Given the description of an element on the screen output the (x, y) to click on. 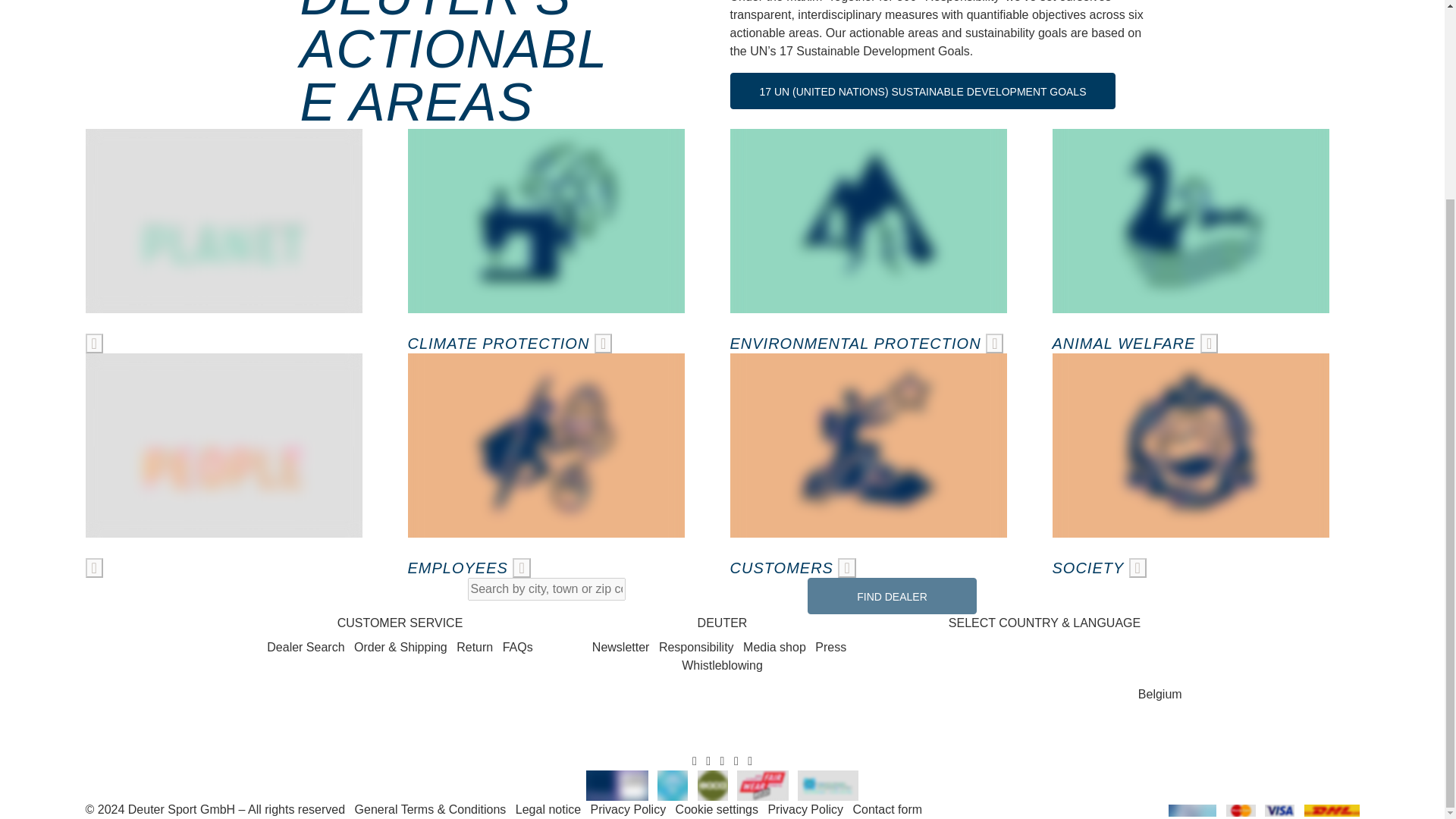
Deuter: Responsible Down Standard (672, 784)
deuter: bluesign System Partner (616, 784)
Select country and language, currently Belgium (1043, 694)
